Given the description of an element on the screen output the (x, y) to click on. 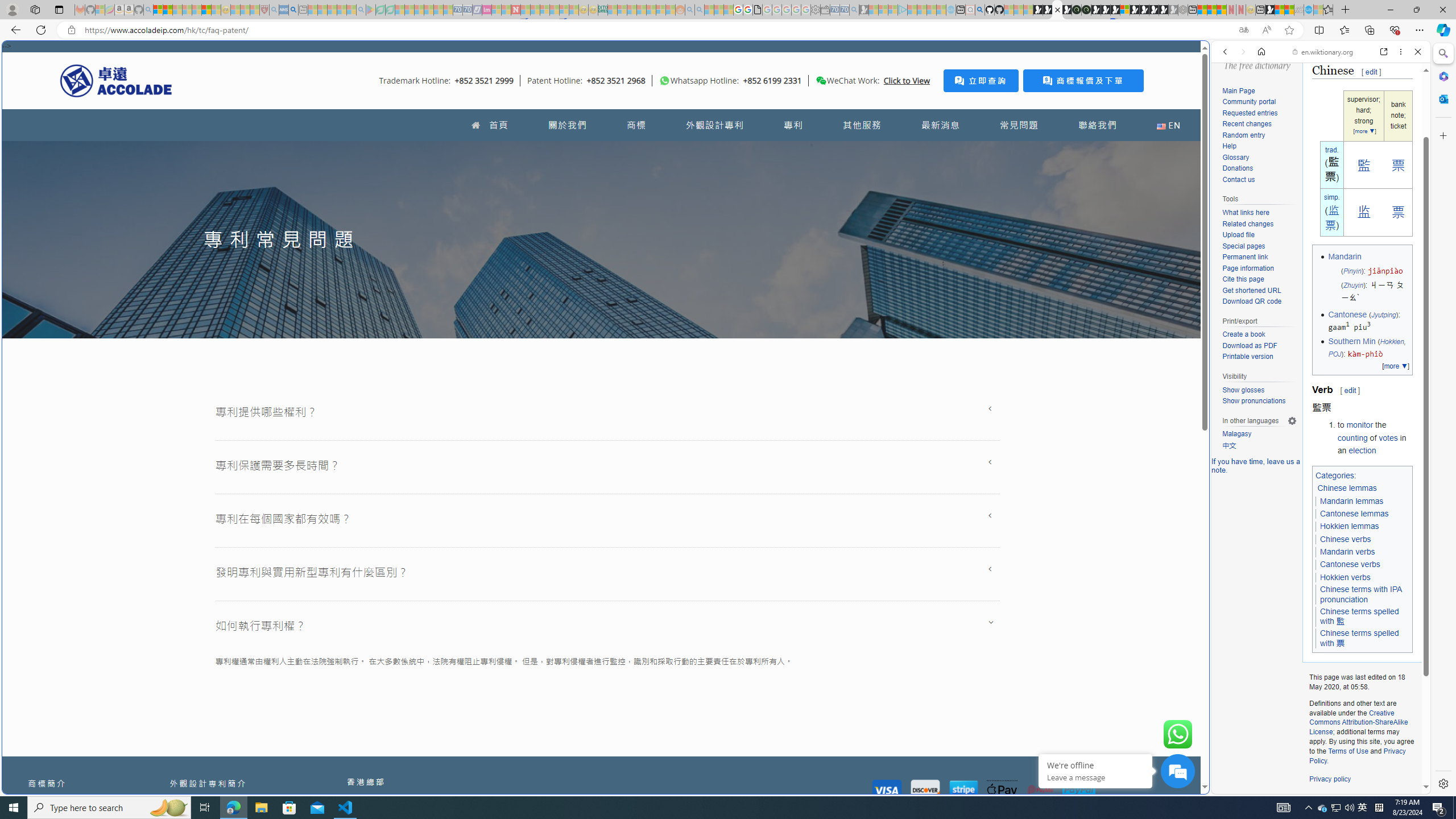
Contact us (1259, 179)
Jyutping (1383, 314)
to monitor the counting of votes in an election (1374, 437)
Preferences (1403, 129)
Special pages (1259, 246)
